Given the description of an element on the screen output the (x, y) to click on. 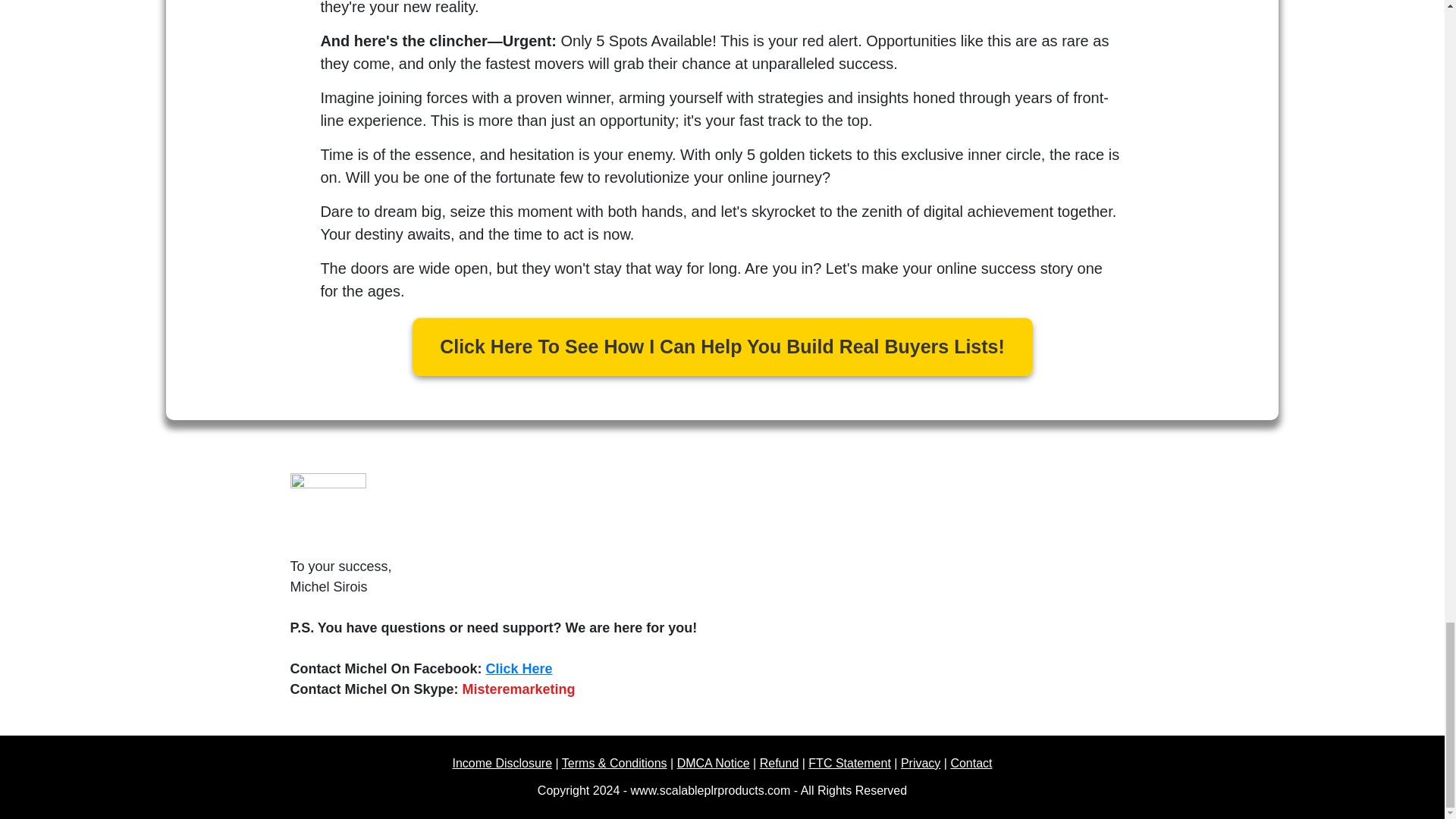
DMCA Notice (713, 762)
Income Disclosure (501, 762)
Click Here (519, 668)
Privacy (920, 762)
Refund (779, 762)
Contact (970, 762)
michel-sirois-1 (327, 510)
FTC Statement (848, 762)
